Given the description of an element on the screen output the (x, y) to click on. 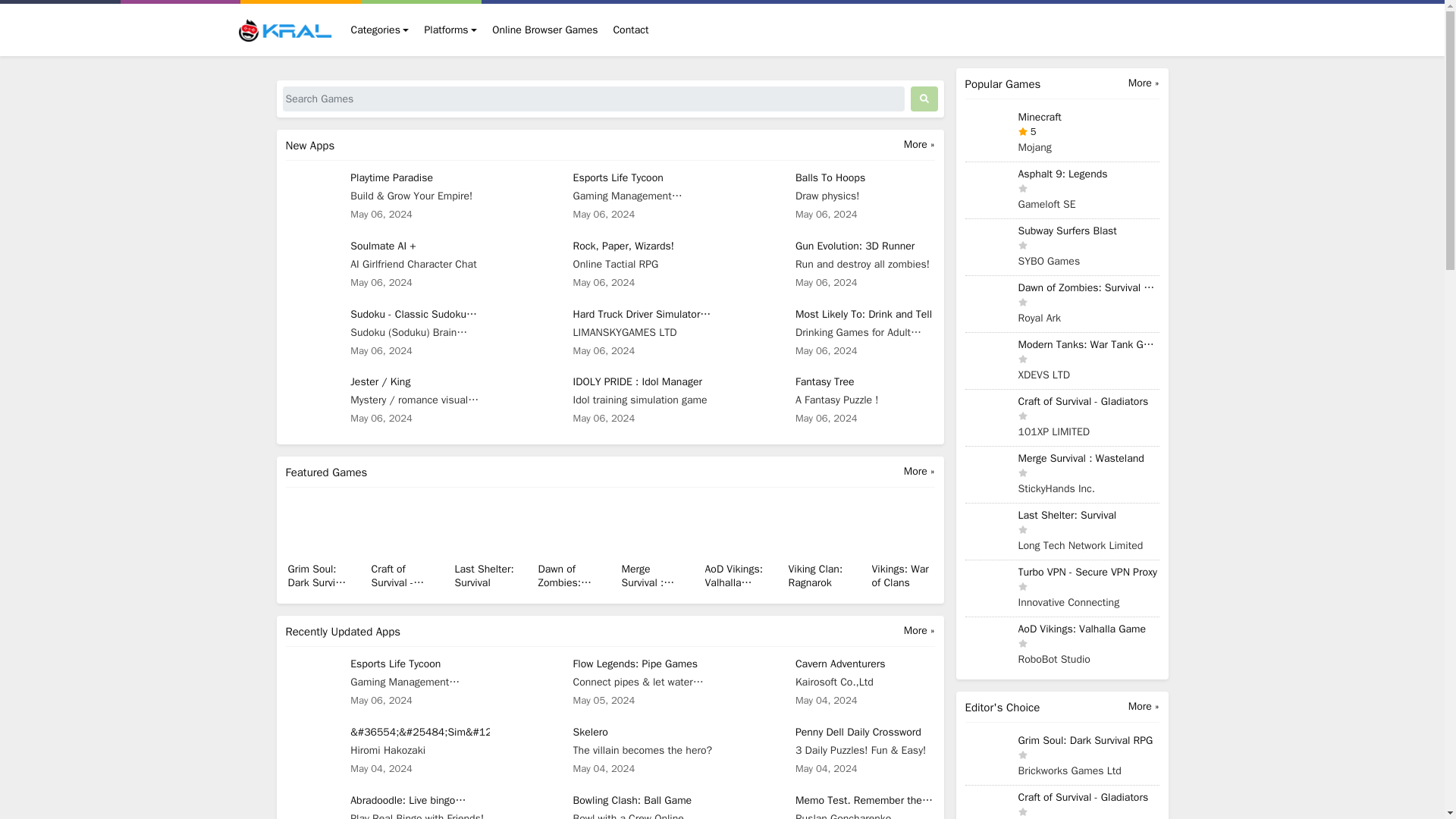
Online Browser Games (545, 29)
Platforms (450, 29)
Contact (630, 29)
Categories (378, 29)
